Given the description of an element on the screen output the (x, y) to click on. 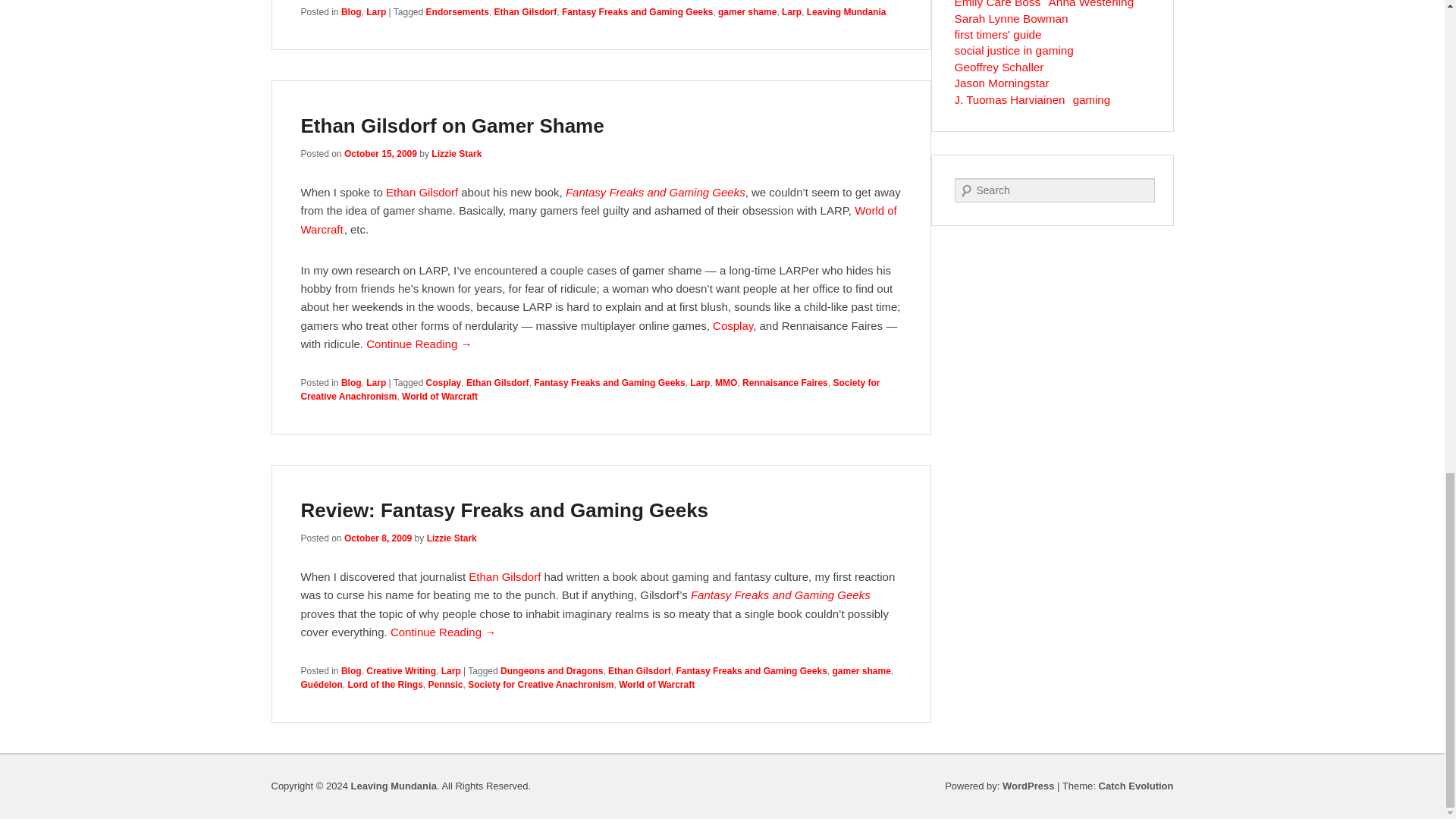
Permalink to Ethan Gilsdorf on Gamer Shame (451, 125)
8:49 pm (379, 153)
